Given the description of an element on the screen output the (x, y) to click on. 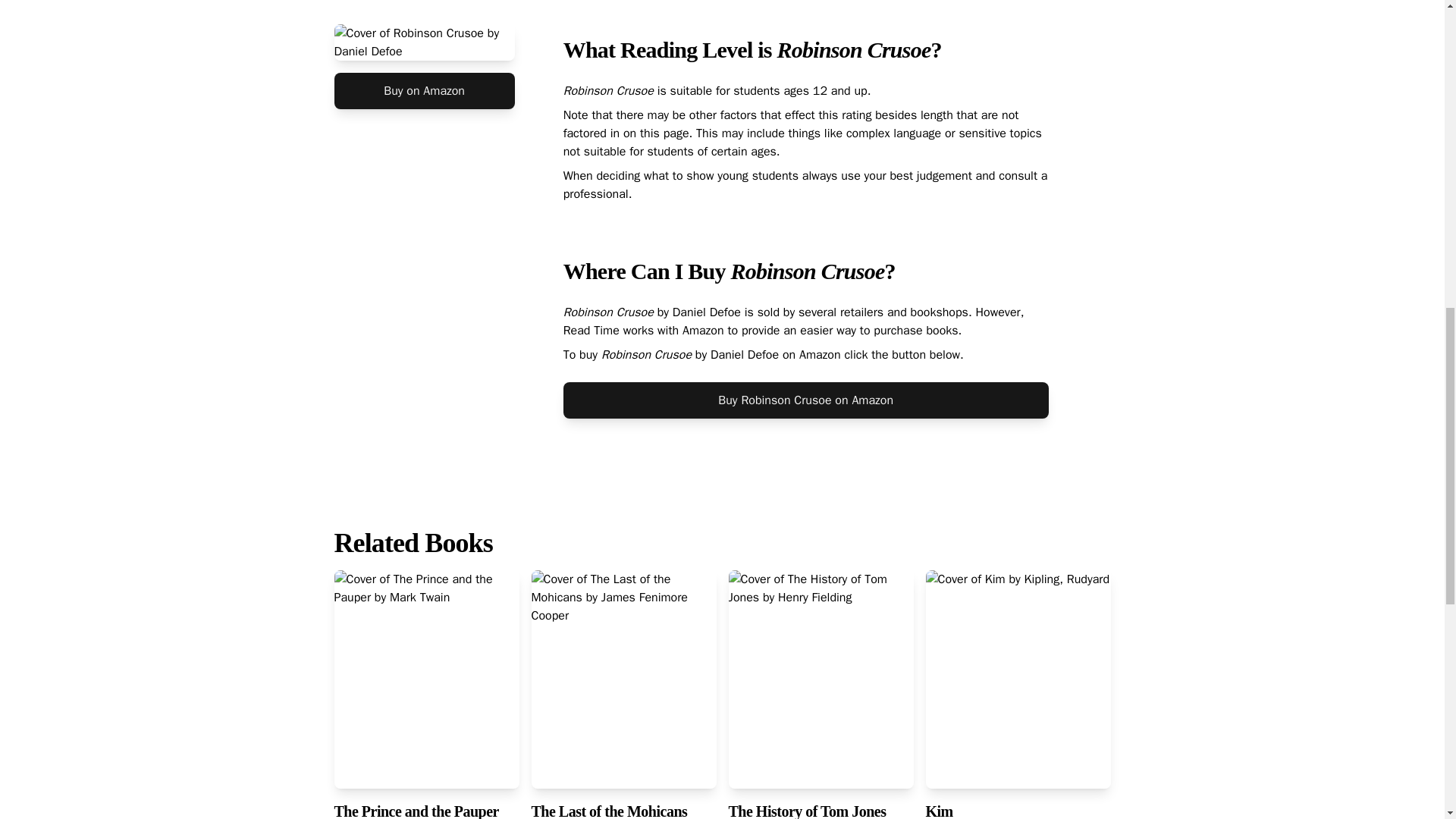
Kim (938, 811)
The Prince and the Pauper (416, 811)
The Last of the Mohicans (609, 811)
The History of Tom Jones (806, 811)
Buy Robinson Crusoe on Amazon (805, 400)
